Given the description of an element on the screen output the (x, y) to click on. 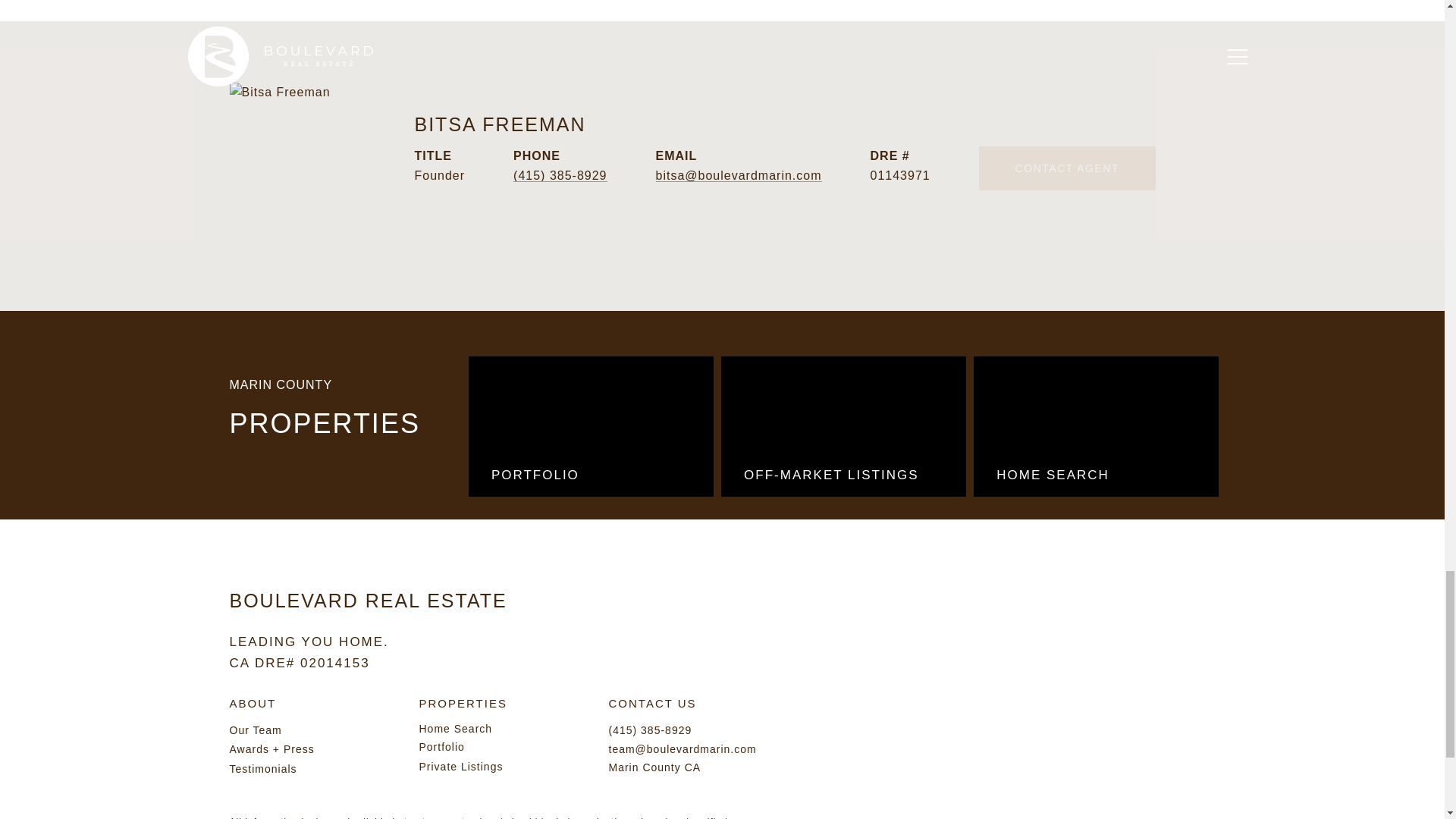
Our Team (254, 729)
HOME SEARCH (1096, 426)
CONTACT AGENT (1067, 168)
OFF-MARKET LISTINGS (843, 426)
PORTFOLIO (590, 426)
